Given the description of an element on the screen output the (x, y) to click on. 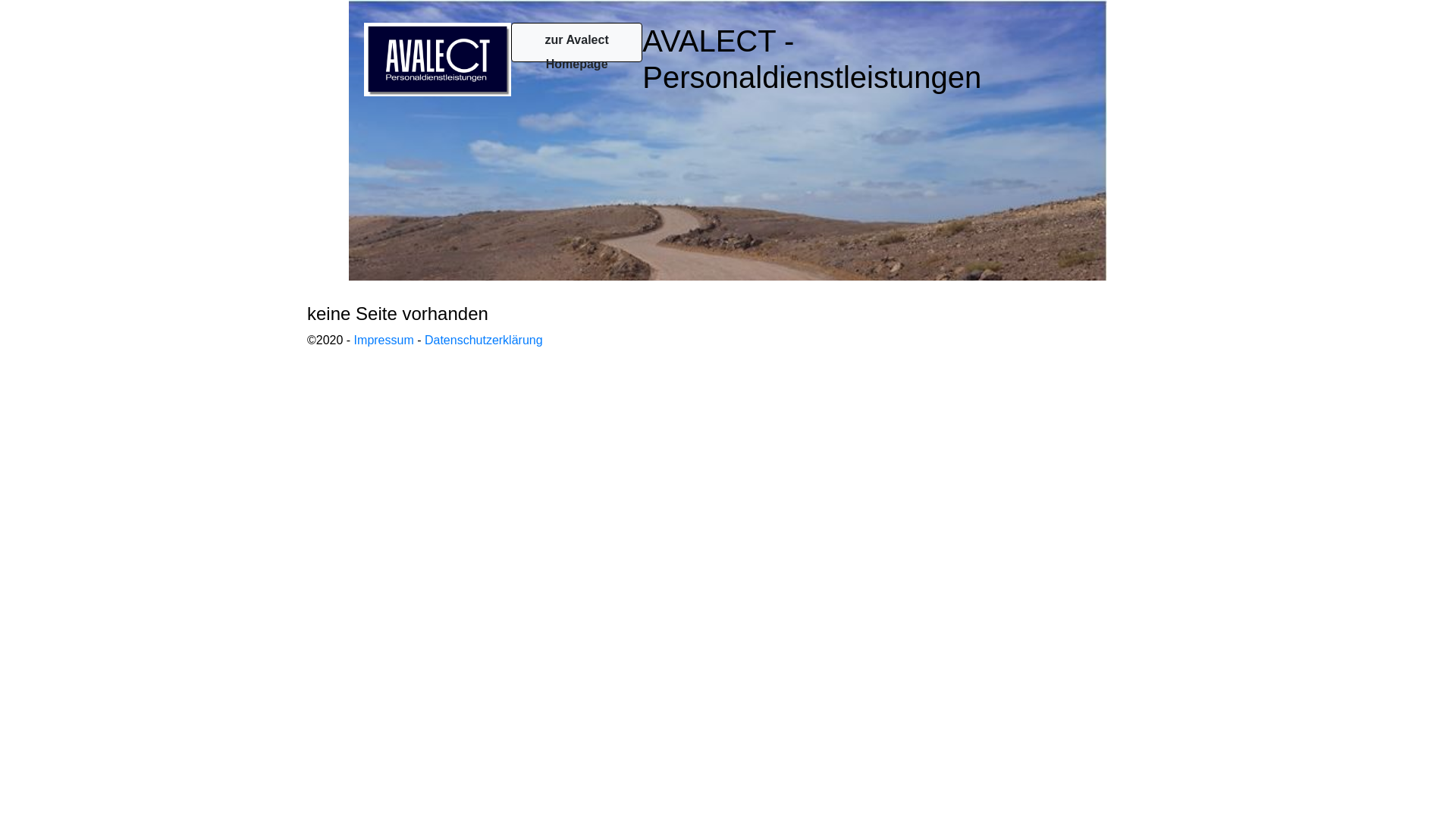
Impressum Element type: text (384, 339)
zur Avalect Homepage Element type: text (576, 42)
